Given the description of an element on the screen output the (x, y) to click on. 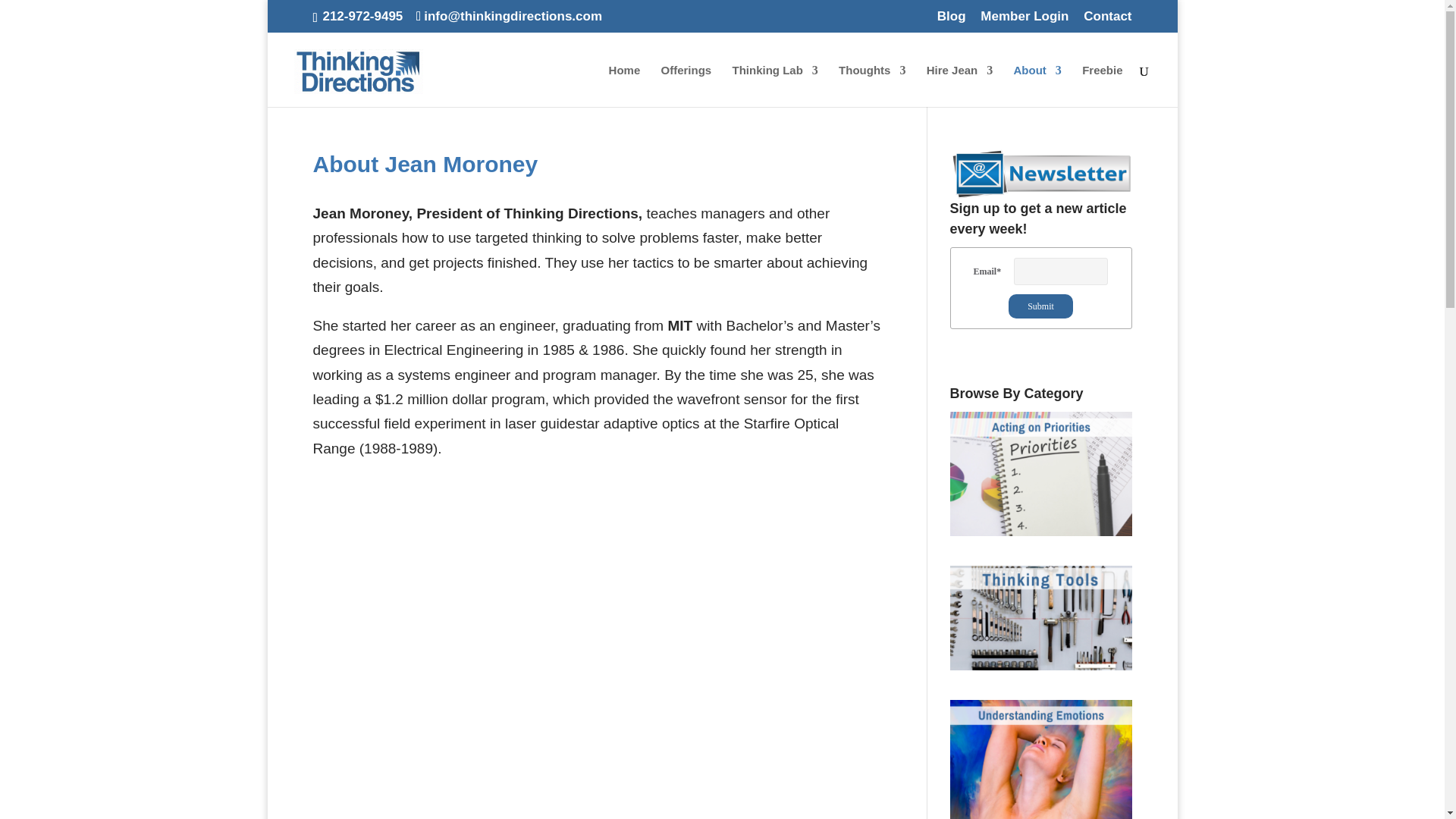
212-972-9495 (362, 16)
About (1037, 86)
Thoughts (871, 86)
Blog (951, 20)
Offerings (686, 86)
Submit (1041, 306)
Hire Jean (959, 86)
Thinking Lab (774, 86)
Freebie (1101, 86)
Member Login (1023, 20)
Contact (1107, 20)
